Given the description of an element on the screen output the (x, y) to click on. 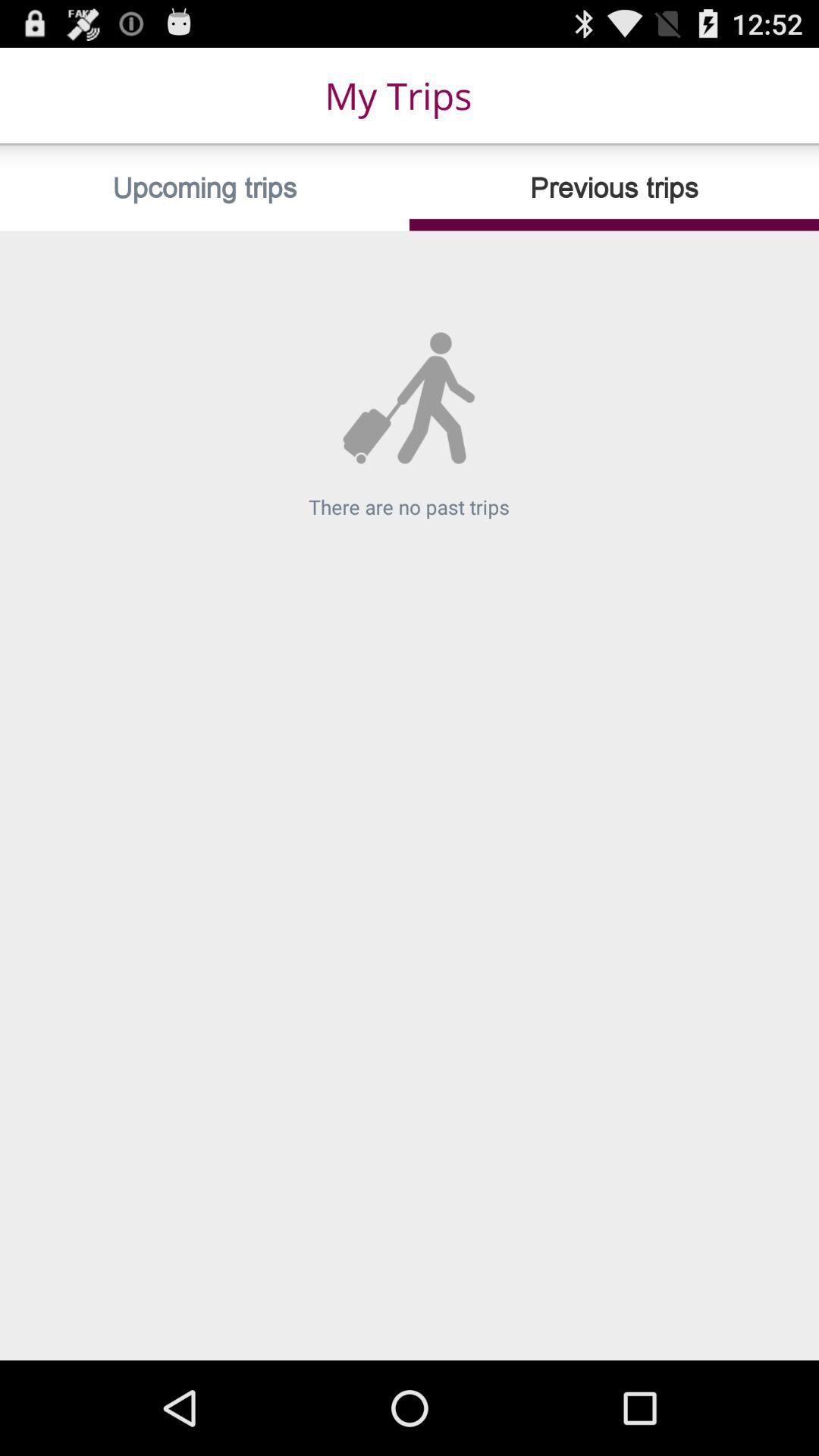
open icon below the my trips icon (204, 187)
